Given the description of an element on the screen output the (x, y) to click on. 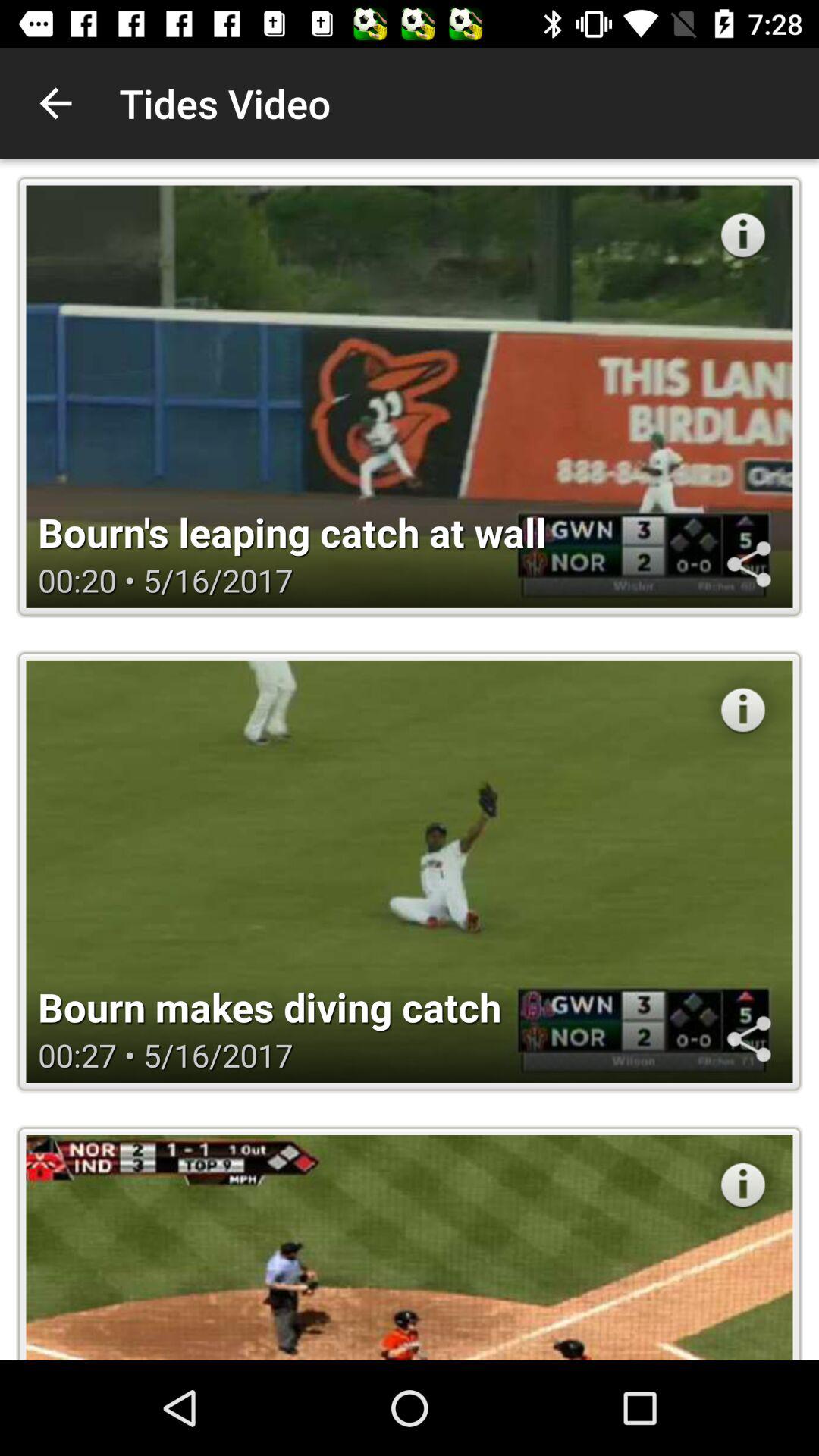
go to information (742, 1184)
